Given the description of an element on the screen output the (x, y) to click on. 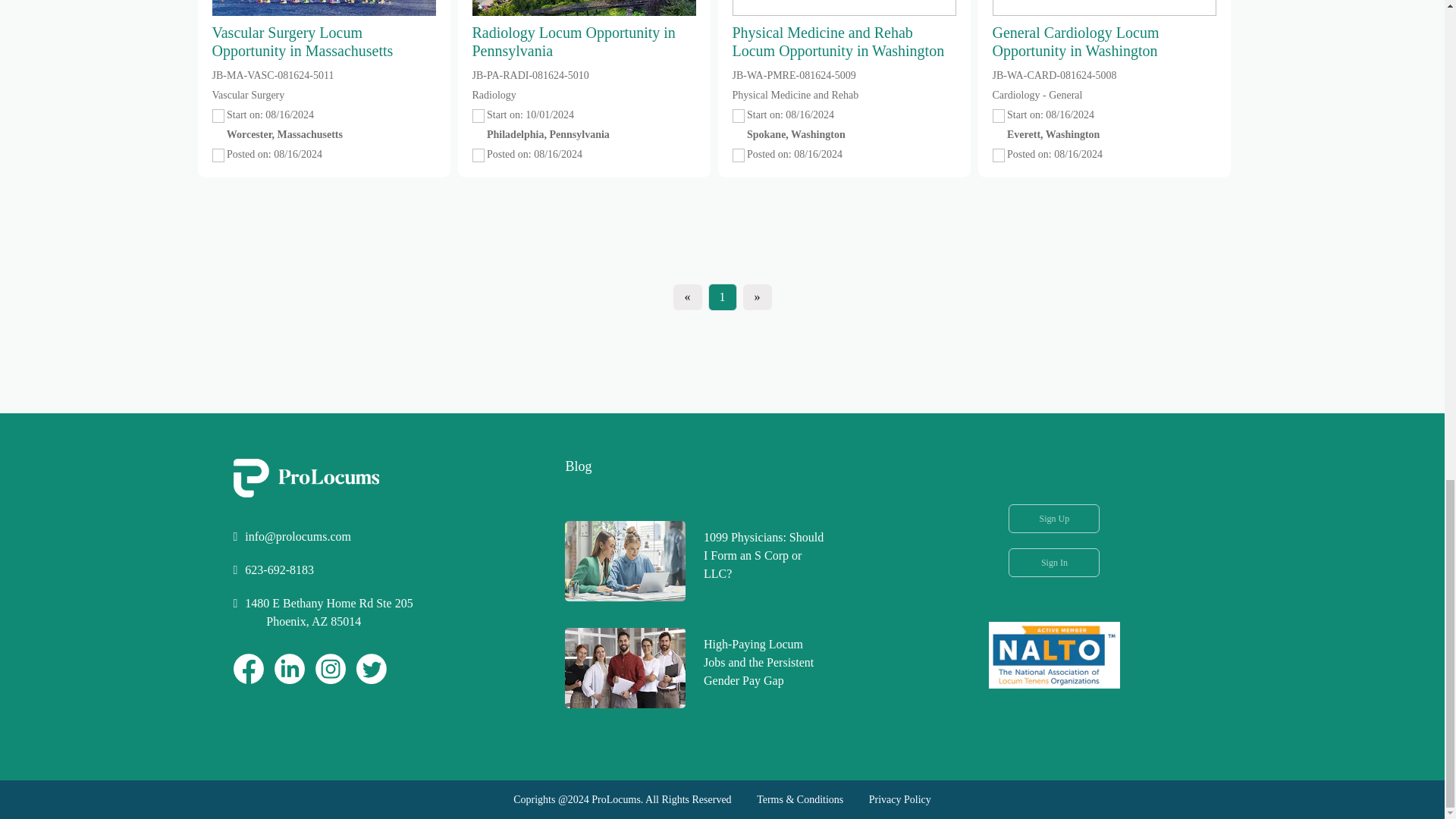
Physical Medicine and Rehab Locum Opportunity in Washington (844, 29)
Vascular Surgery Locum Opportunity in Massachusetts (323, 29)
Next page (756, 297)
General Cardiology Locum Opportunity in Washington (1103, 29)
Radiology Locum Opportunity in Pennsylvania (583, 29)
